Given the description of an element on the screen output the (x, y) to click on. 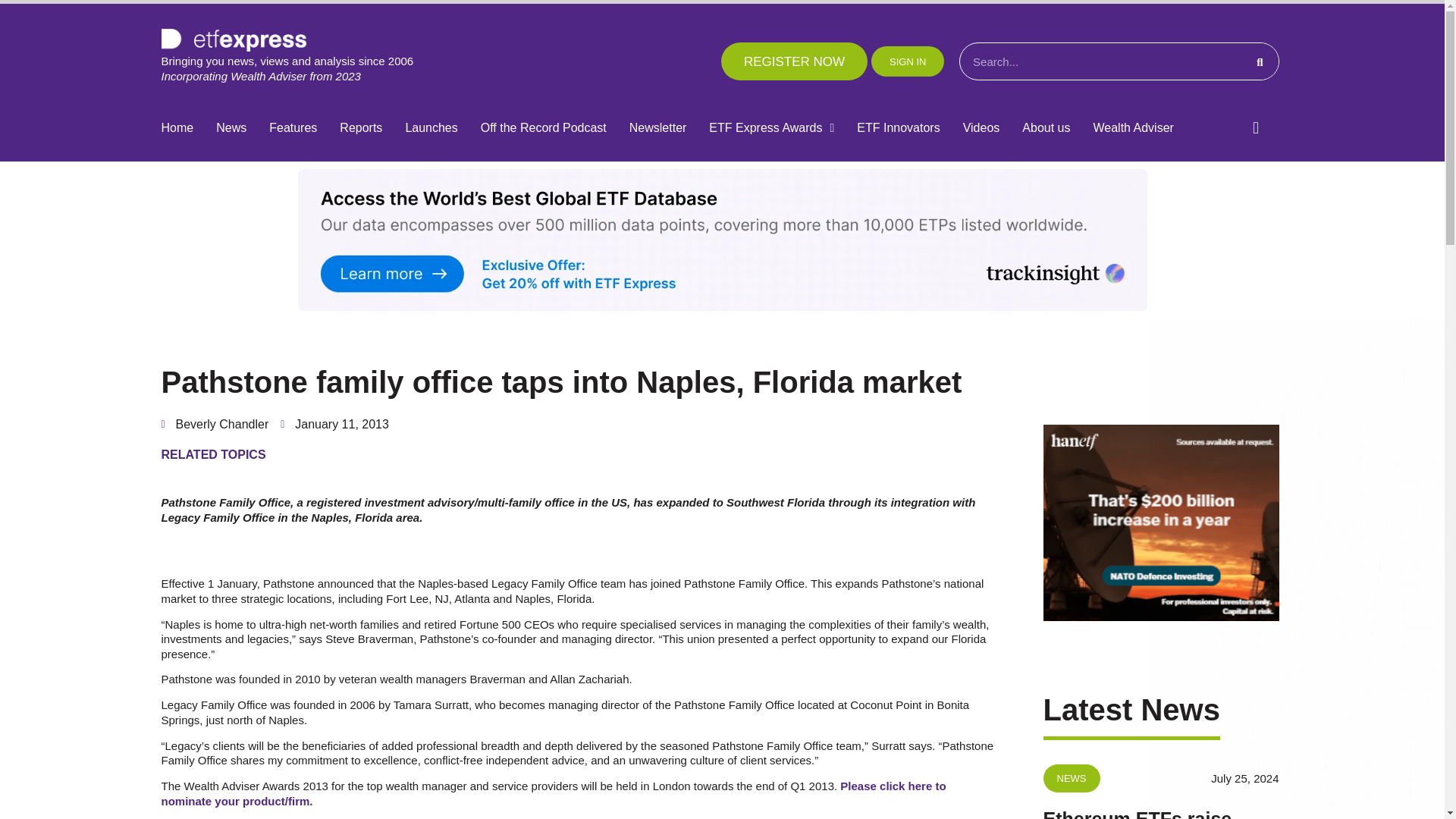
REGISTER NOW (793, 61)
SIGN IN (906, 60)
